Given the description of an element on the screen output the (x, y) to click on. 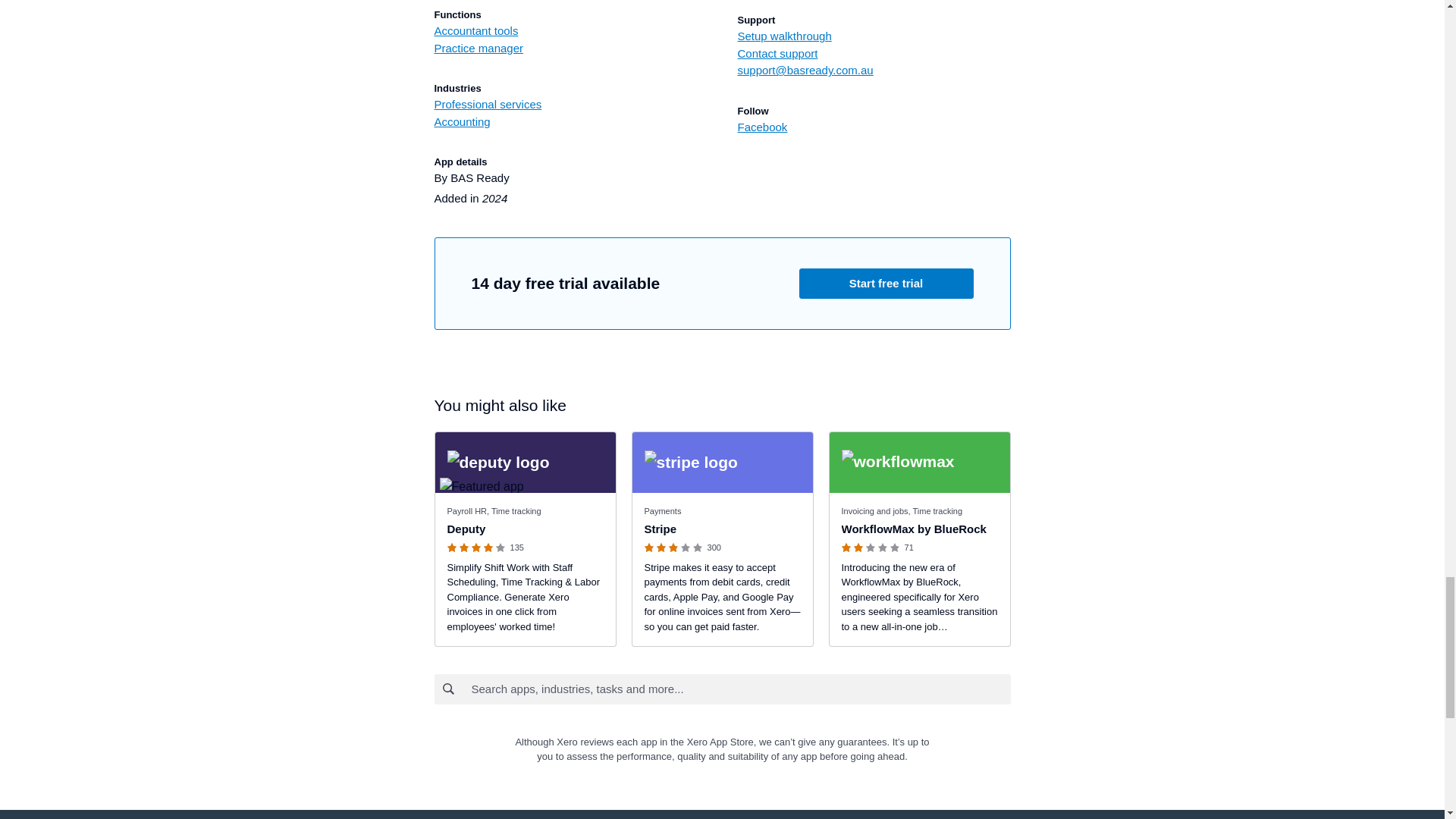
4.05 out of 5 stars (477, 547)
2.86 out of 5 stars (674, 547)
2.14 out of 5 stars (871, 547)
